Given the description of an element on the screen output the (x, y) to click on. 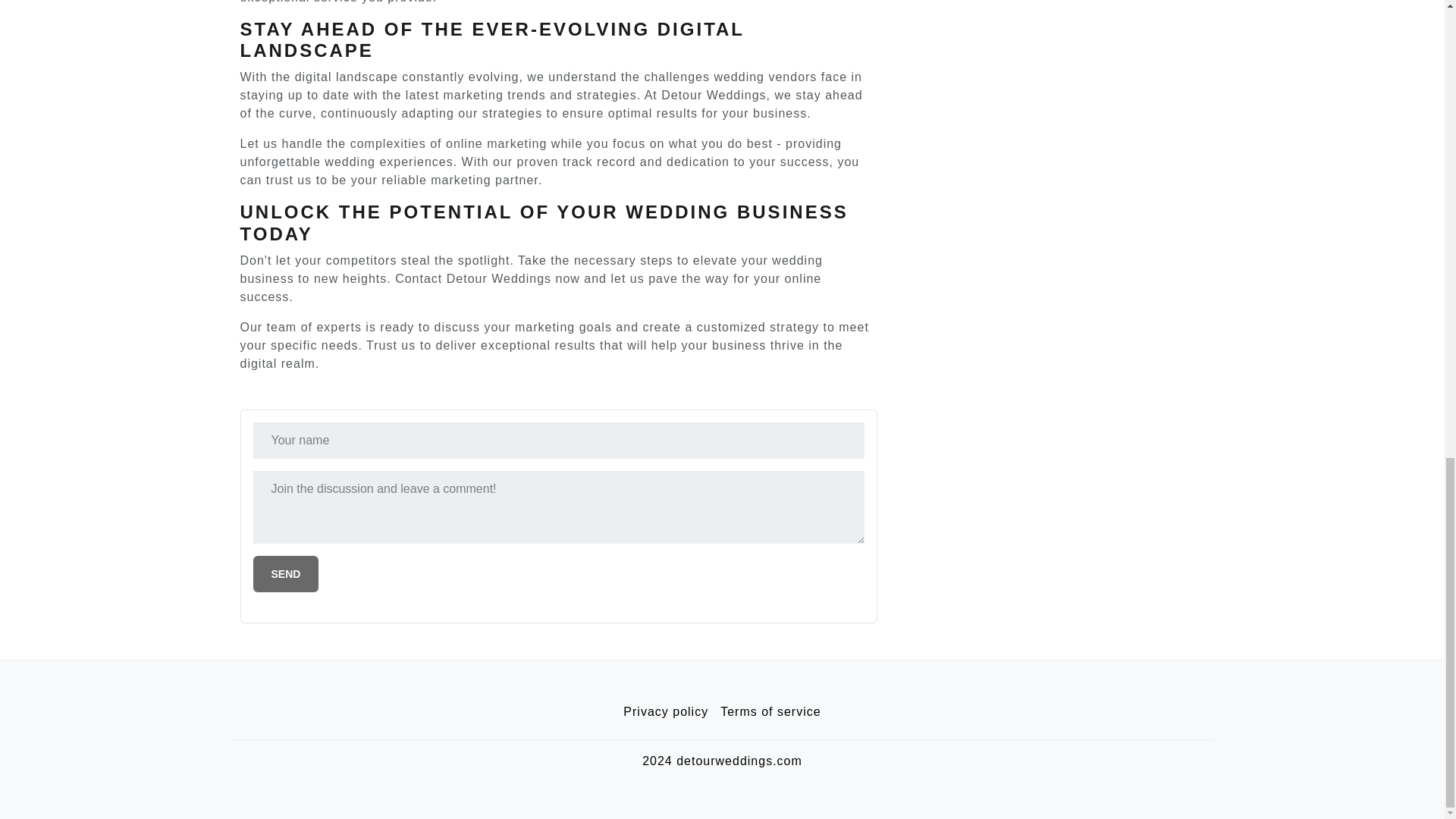
Send (285, 574)
Terms of service (770, 711)
Privacy policy (665, 711)
Send (285, 574)
